Given the description of an element on the screen output the (x, y) to click on. 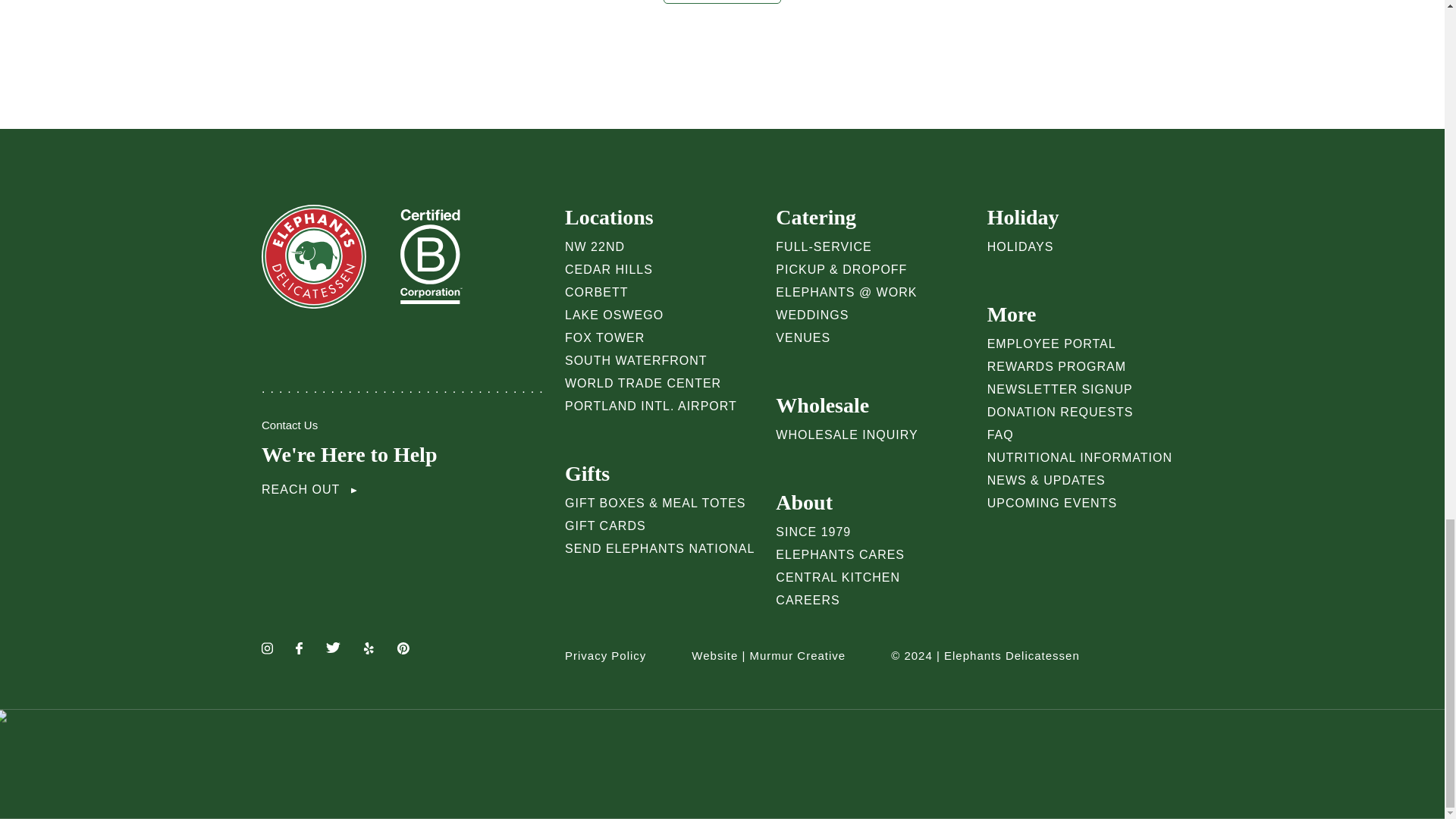
CEDAR HILLS (608, 269)
FOX TOWER (604, 337)
REACH OUT (309, 489)
WORLD TRADE CENTER (642, 382)
LAKE OSWEGO (613, 314)
PORTLAND INTL. AIRPORT (650, 405)
SIGN UP (721, 2)
NW 22ND (594, 246)
SOUTH WATERFRONT (635, 359)
Locations (662, 217)
CORBETT (595, 291)
